Given the description of an element on the screen output the (x, y) to click on. 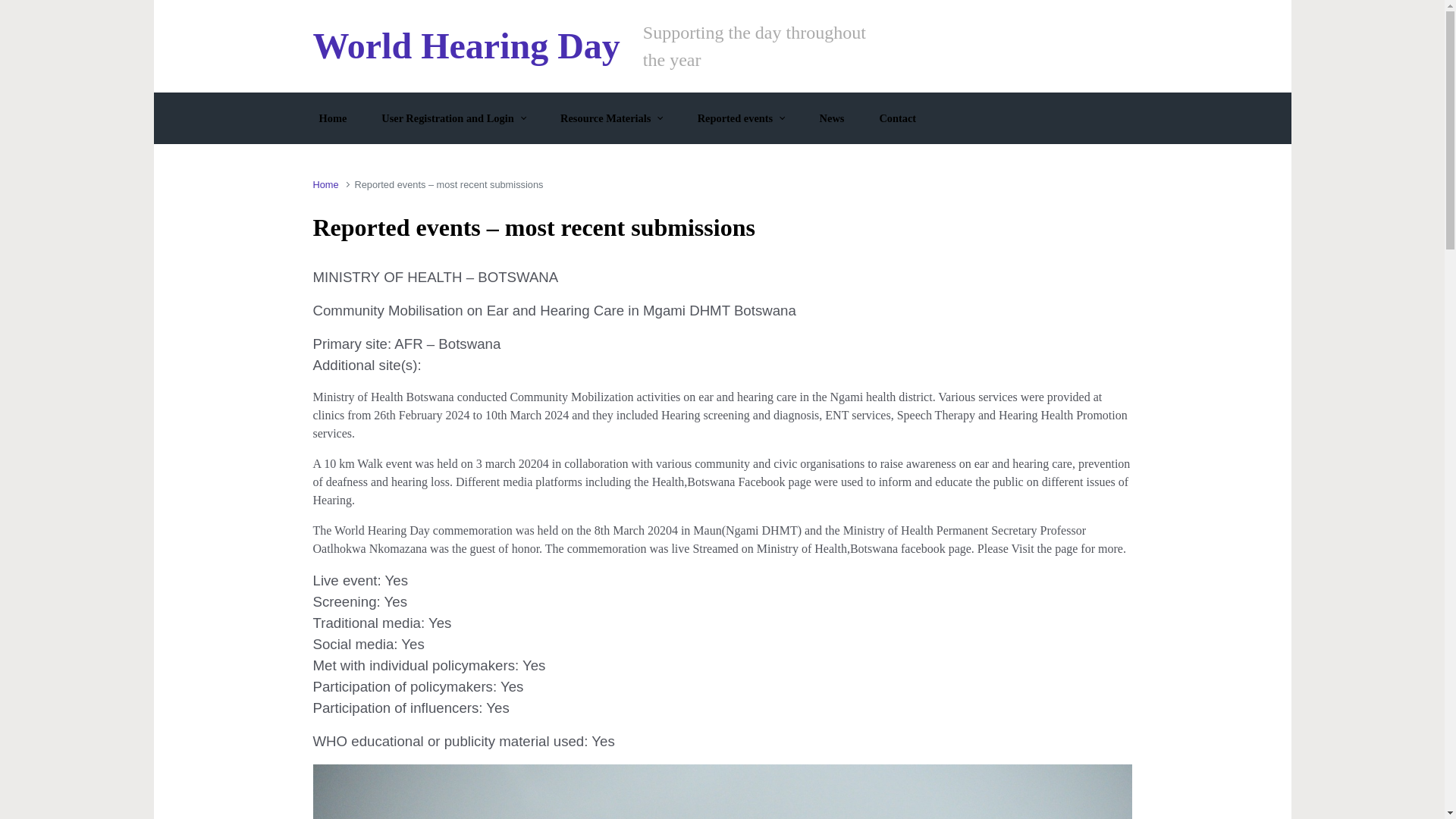
Resource Materials (611, 118)
News (831, 118)
Home (332, 118)
World Hearing Day (466, 45)
Contact (896, 118)
Reported events (740, 118)
User Registration and Login (453, 118)
Skip to main content (18, 10)
Home (325, 184)
